Given the description of an element on the screen output the (x, y) to click on. 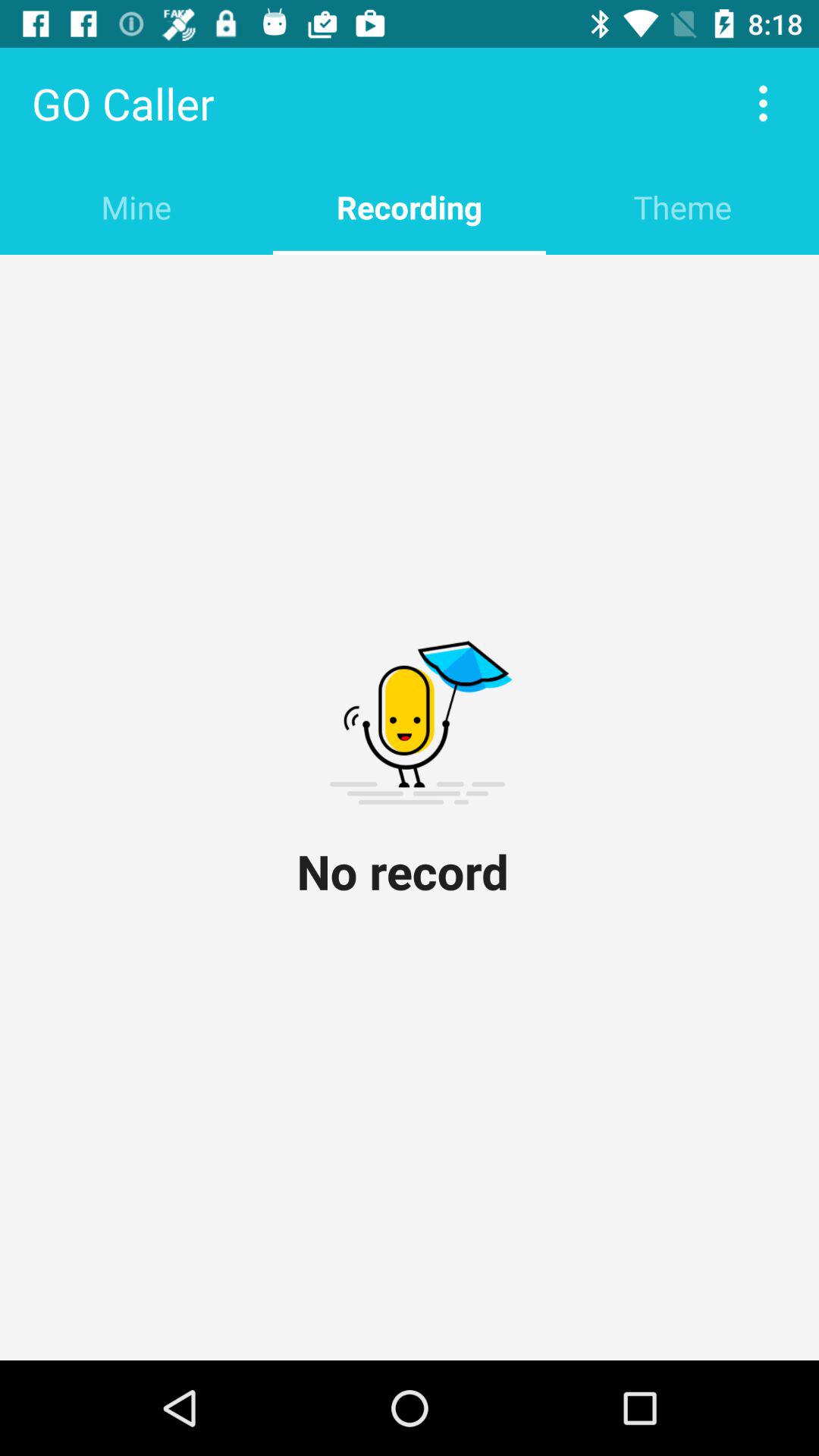
tap the icon next to mine icon (409, 206)
